Given the description of an element on the screen output the (x, y) to click on. 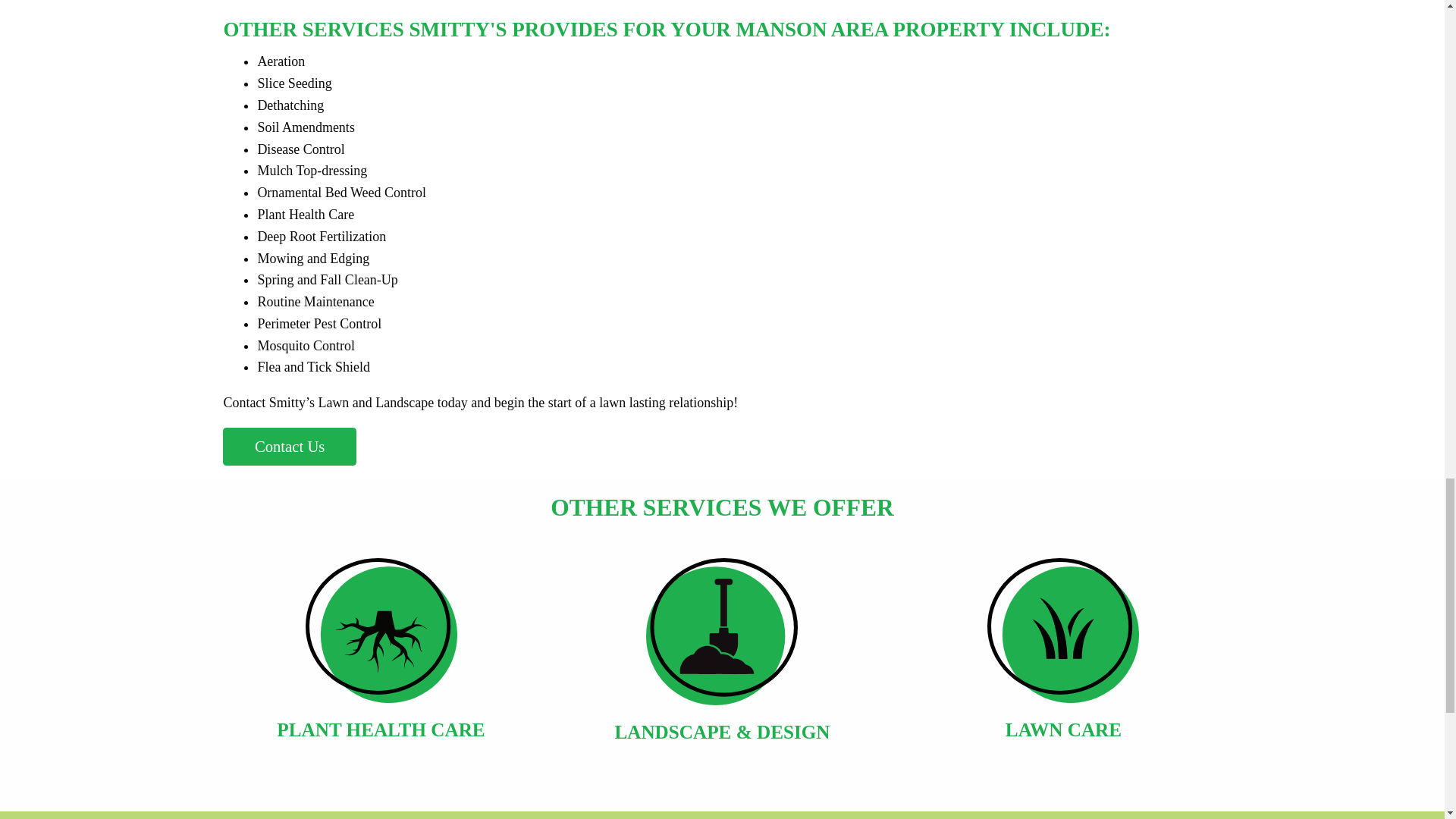
Contact Us (289, 446)
Learn more about Lawn Care (1063, 658)
Learn more about Pest Control (721, 658)
